Given the description of an element on the screen output the (x, y) to click on. 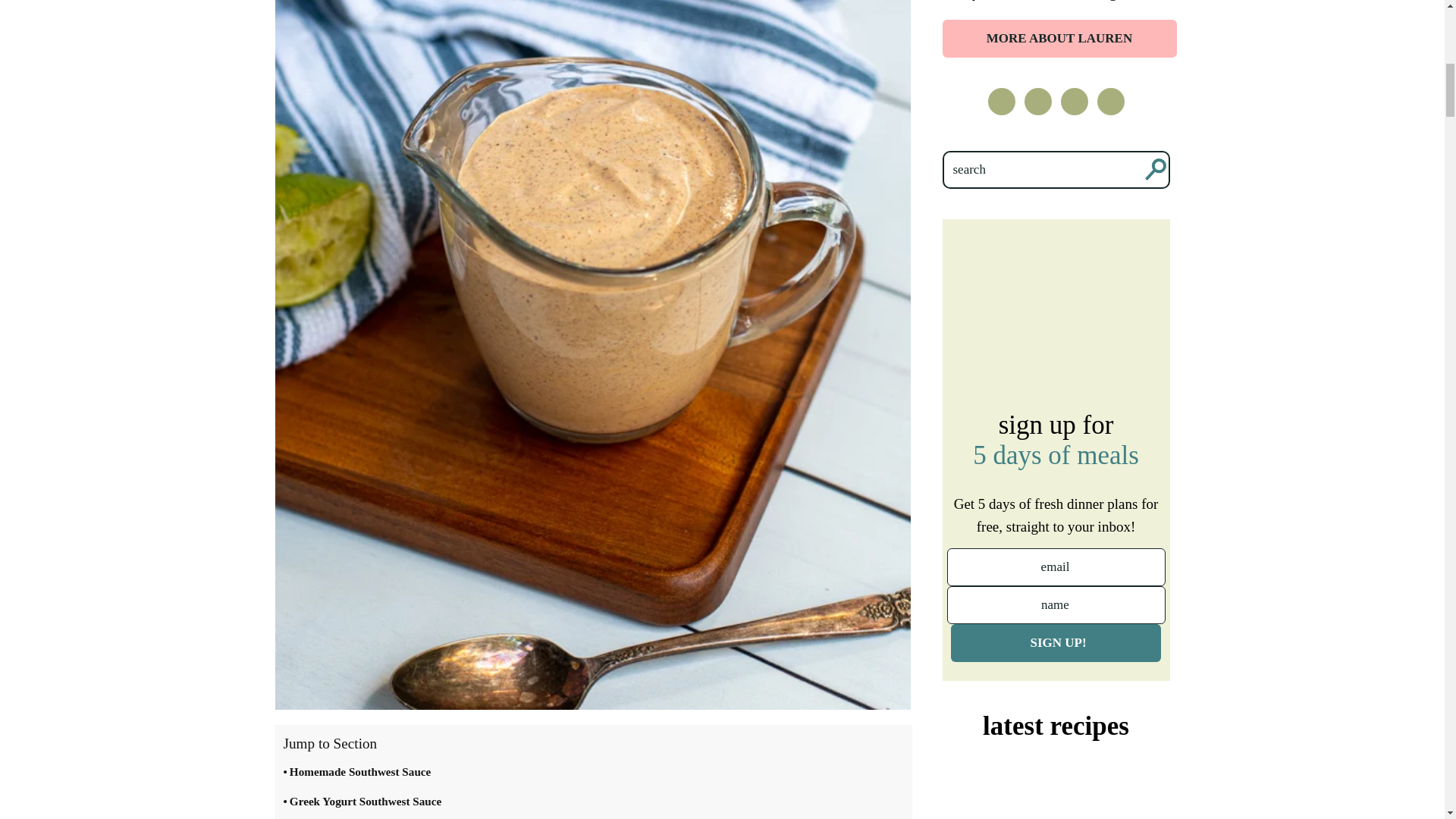
sign up! (1055, 642)
Greek Yogurt Southwest Sauce (362, 805)
Homemade Southwest Sauce (356, 777)
